Given the description of an element on the screen output the (x, y) to click on. 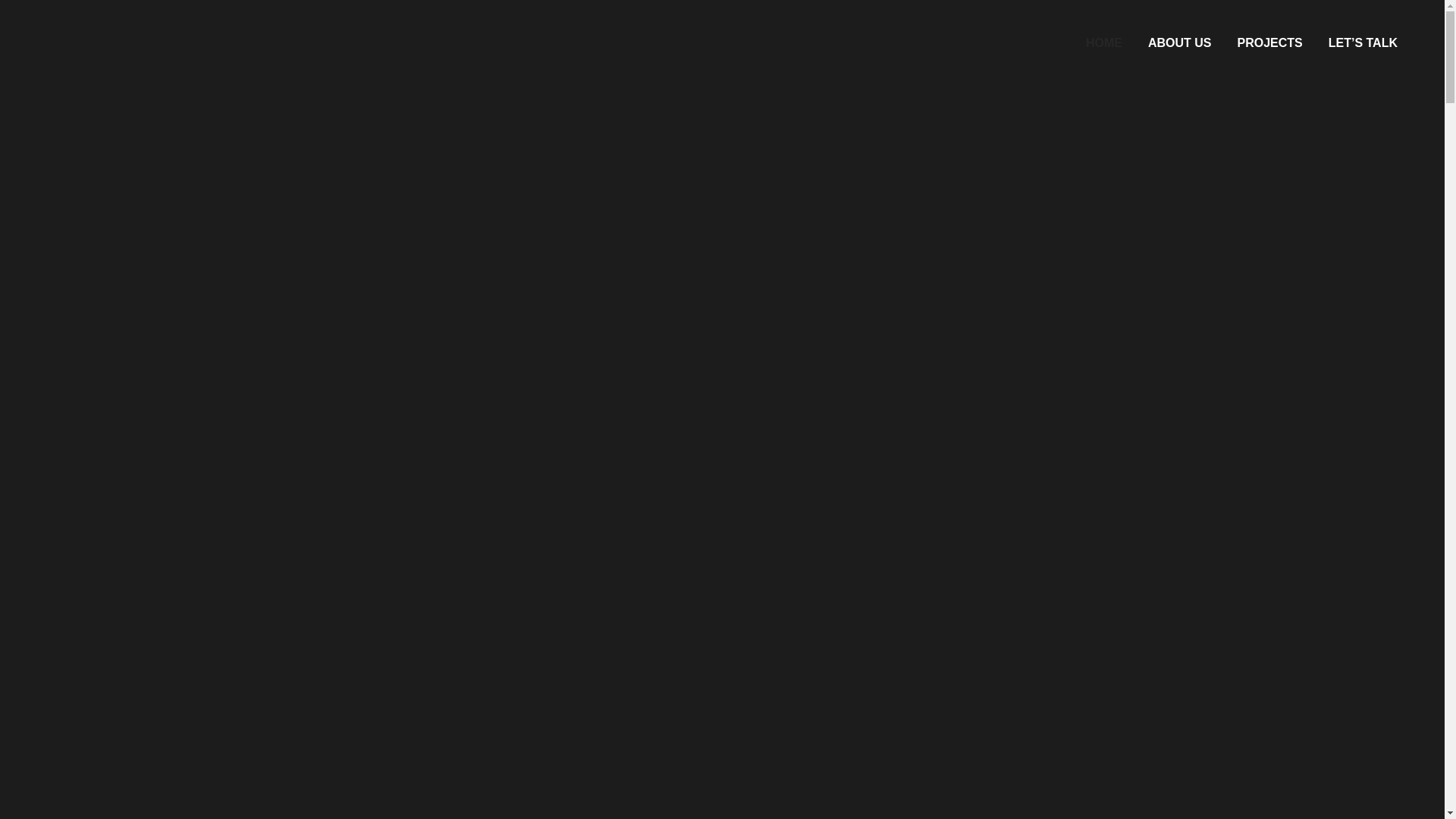
HOME Element type: text (1104, 43)
PROJECTS Element type: text (1268, 43)
ABOUT US Element type: text (1179, 43)
